Given the description of an element on the screen output the (x, y) to click on. 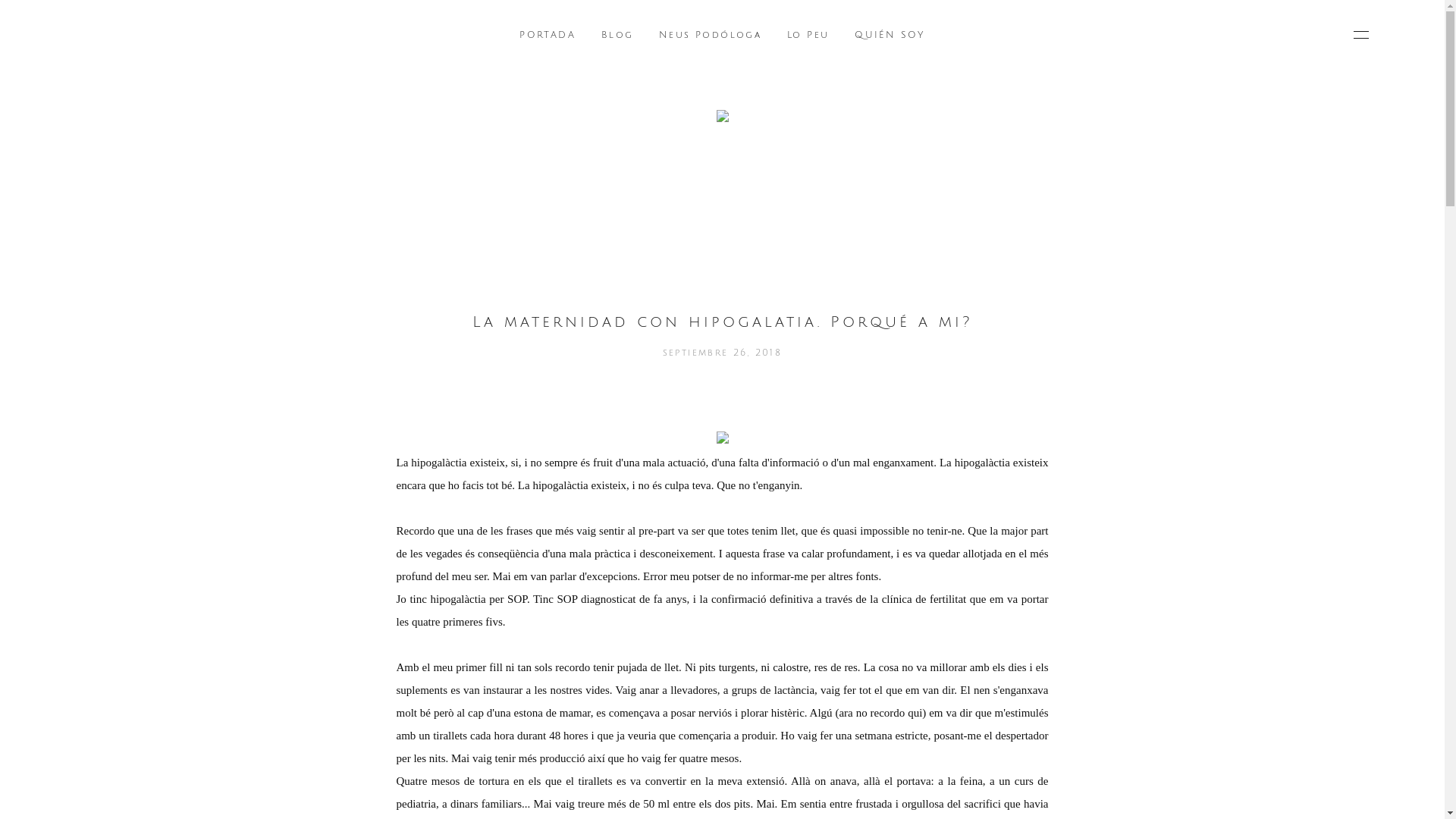
Lo Peu Element type: text (807, 35)
Blog Element type: text (617, 35)
PORTADA Element type: text (547, 35)
